Given the description of an element on the screen output the (x, y) to click on. 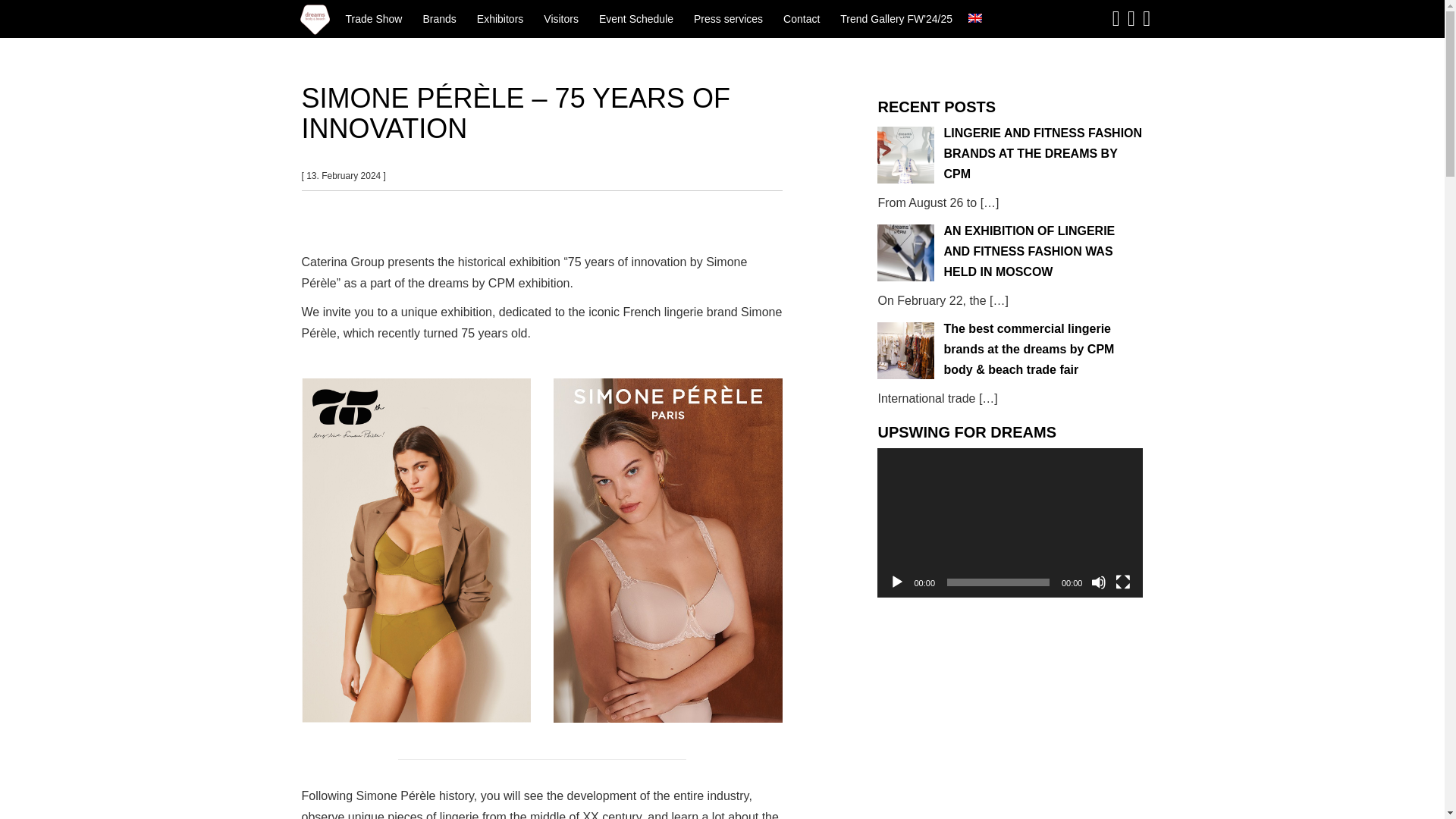
Brands (438, 18)
Event Schedule (636, 18)
Mute (1098, 581)
Play (896, 581)
Fullscreen (1123, 581)
Contact (801, 18)
Trade Show (373, 18)
Exhibitors (500, 18)
Visitors (561, 18)
Press services (728, 18)
